Given the description of an element on the screen output the (x, y) to click on. 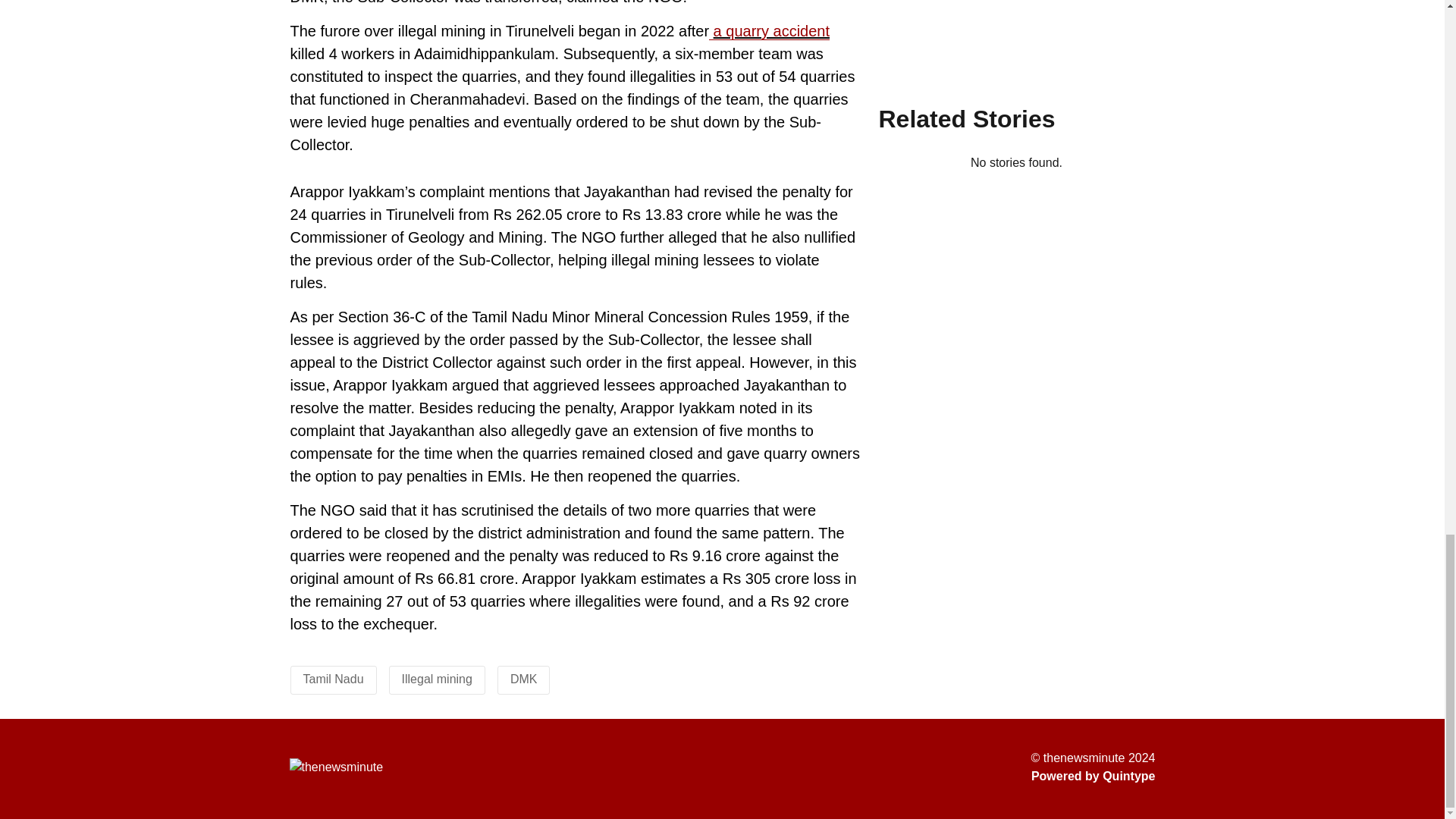
Illegal mining (436, 678)
Powered by Quintype (1093, 776)
Tamil Nadu (333, 678)
a quarry accident (771, 31)
DMK (524, 678)
